Given the description of an element on the screen output the (x, y) to click on. 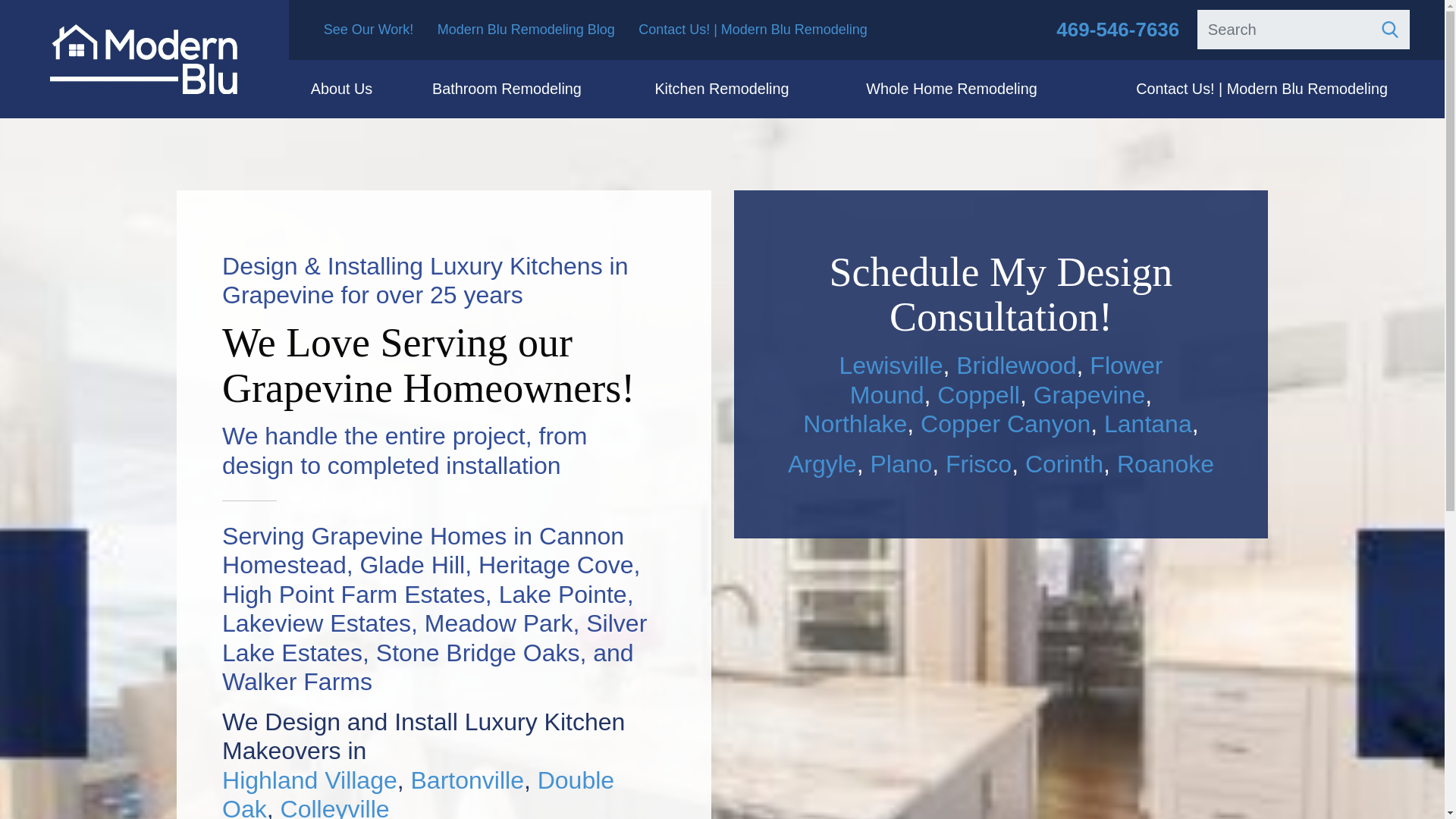
Modern Blu Remodeling (144, 58)
Search (1389, 29)
Search (1302, 29)
